Given the description of an element on the screen output the (x, y) to click on. 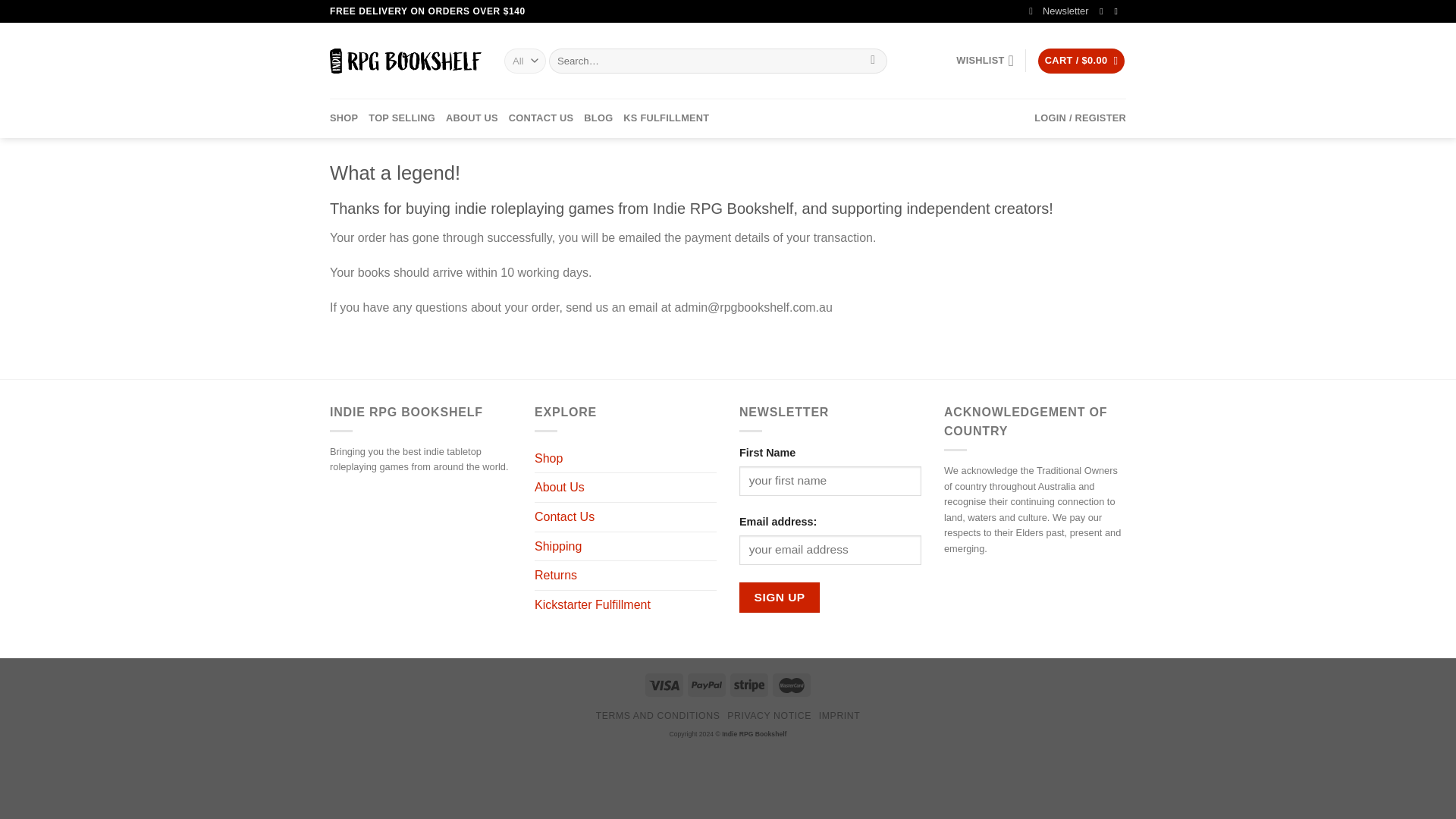
About Us (559, 487)
TOP SELLING (401, 118)
KS FULFILLMENT (666, 118)
Newsletter (1058, 11)
PRIVACY NOTICE (768, 715)
Contact Us (564, 516)
Indie RPG Bookshelf - Indie RPG Bookshelf (405, 61)
Sign up (779, 596)
CONTACT US (540, 118)
Shop (548, 458)
Sign up (779, 596)
Login (1079, 118)
Sign up for our Newsletter (1058, 11)
Shipping (557, 546)
Cart (1081, 60)
